Given the description of an element on the screen output the (x, y) to click on. 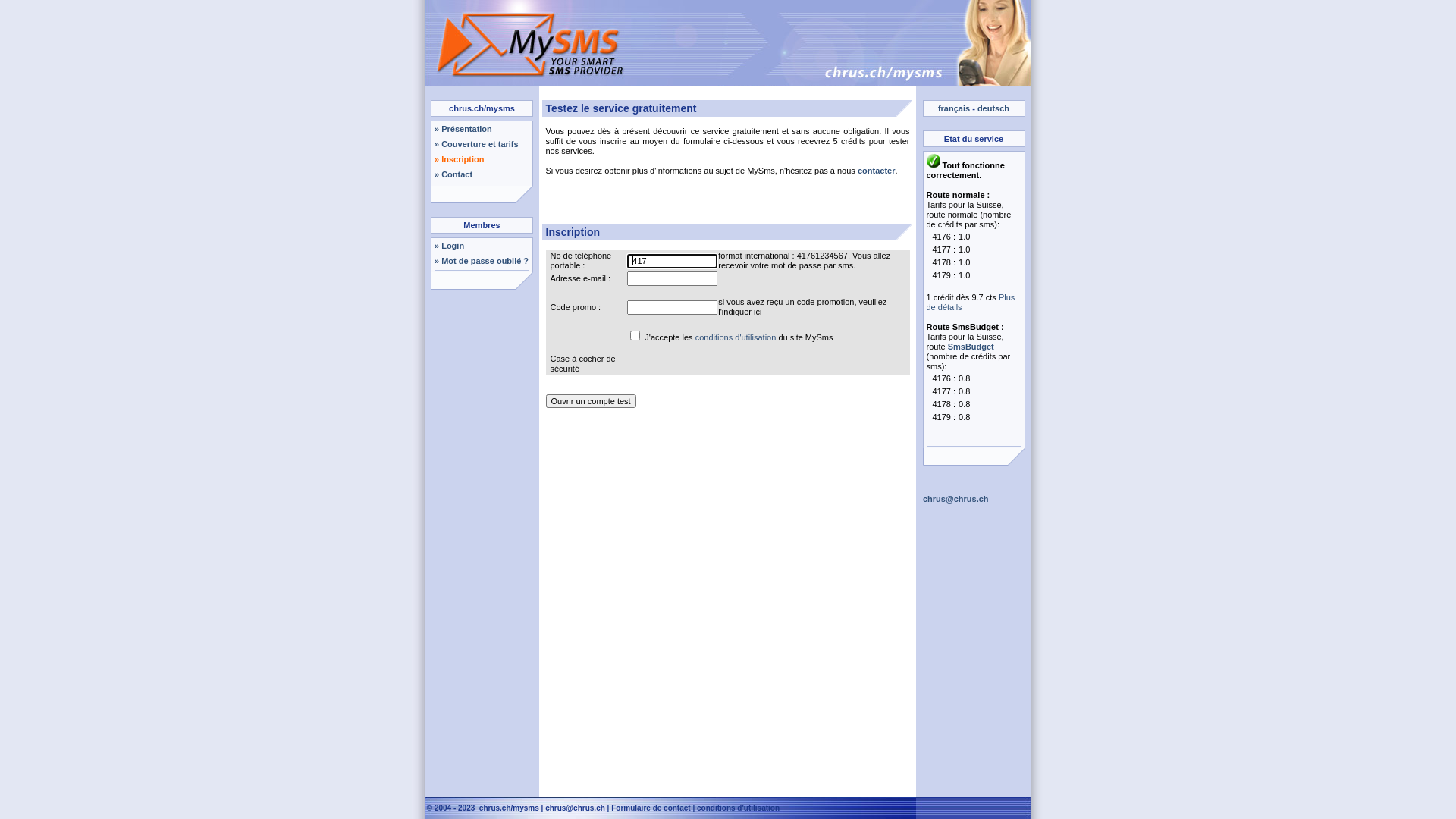
Formulaire de contact Element type: text (650, 807)
deutsch Element type: text (993, 107)
chrus@chrus.ch Element type: text (575, 807)
SmsBudget Element type: text (970, 346)
conditions d'utilisation Element type: text (735, 337)
conditions d'utilisation Element type: text (737, 807)
contacter Element type: text (876, 170)
Ouvrir un compte test Element type: text (591, 400)
chrus@chrus.ch Element type: text (955, 498)
